Given the description of an element on the screen output the (x, y) to click on. 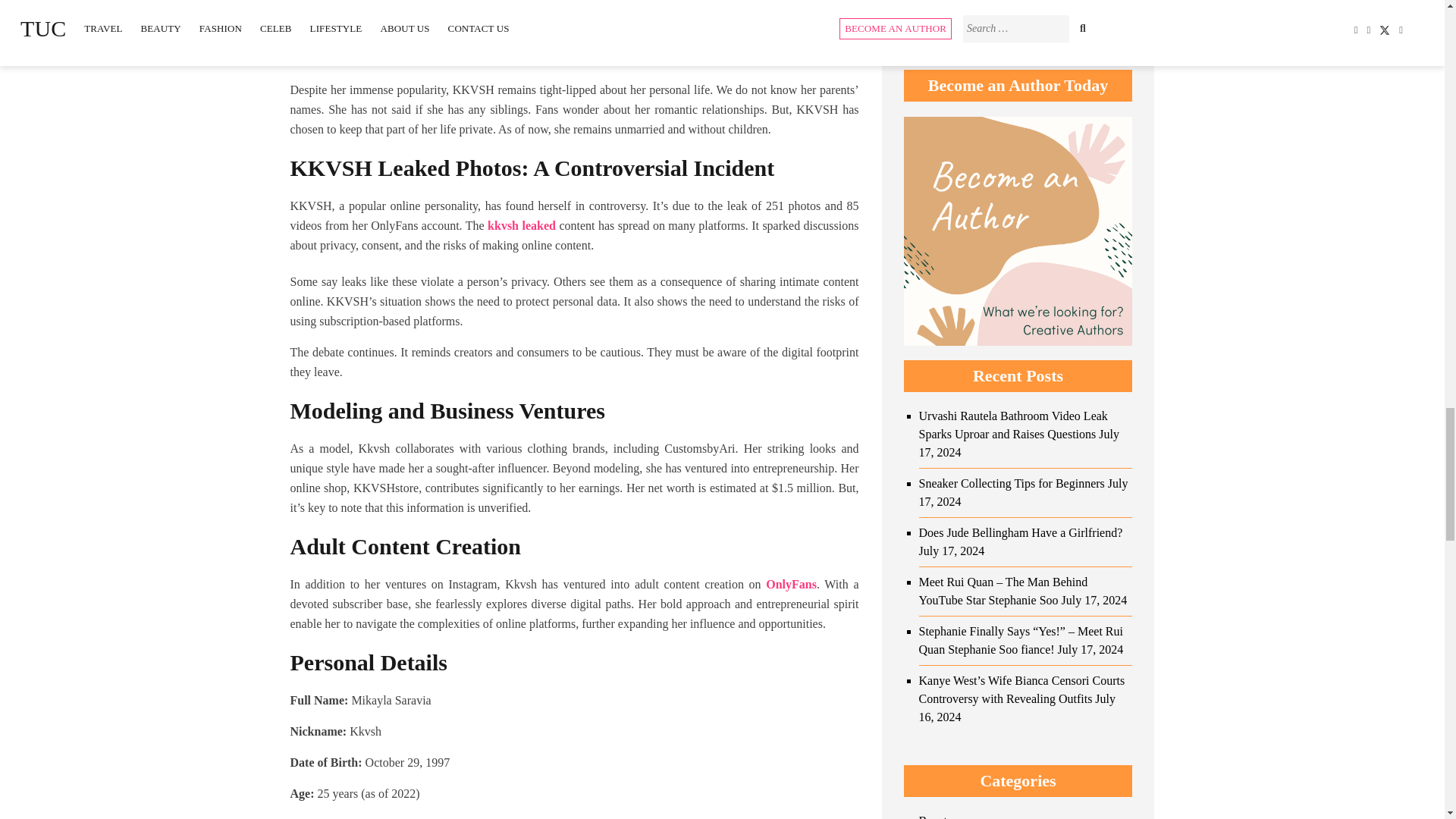
OnlyFans (790, 584)
kkvsh leaked (521, 225)
